Given the description of an element on the screen output the (x, y) to click on. 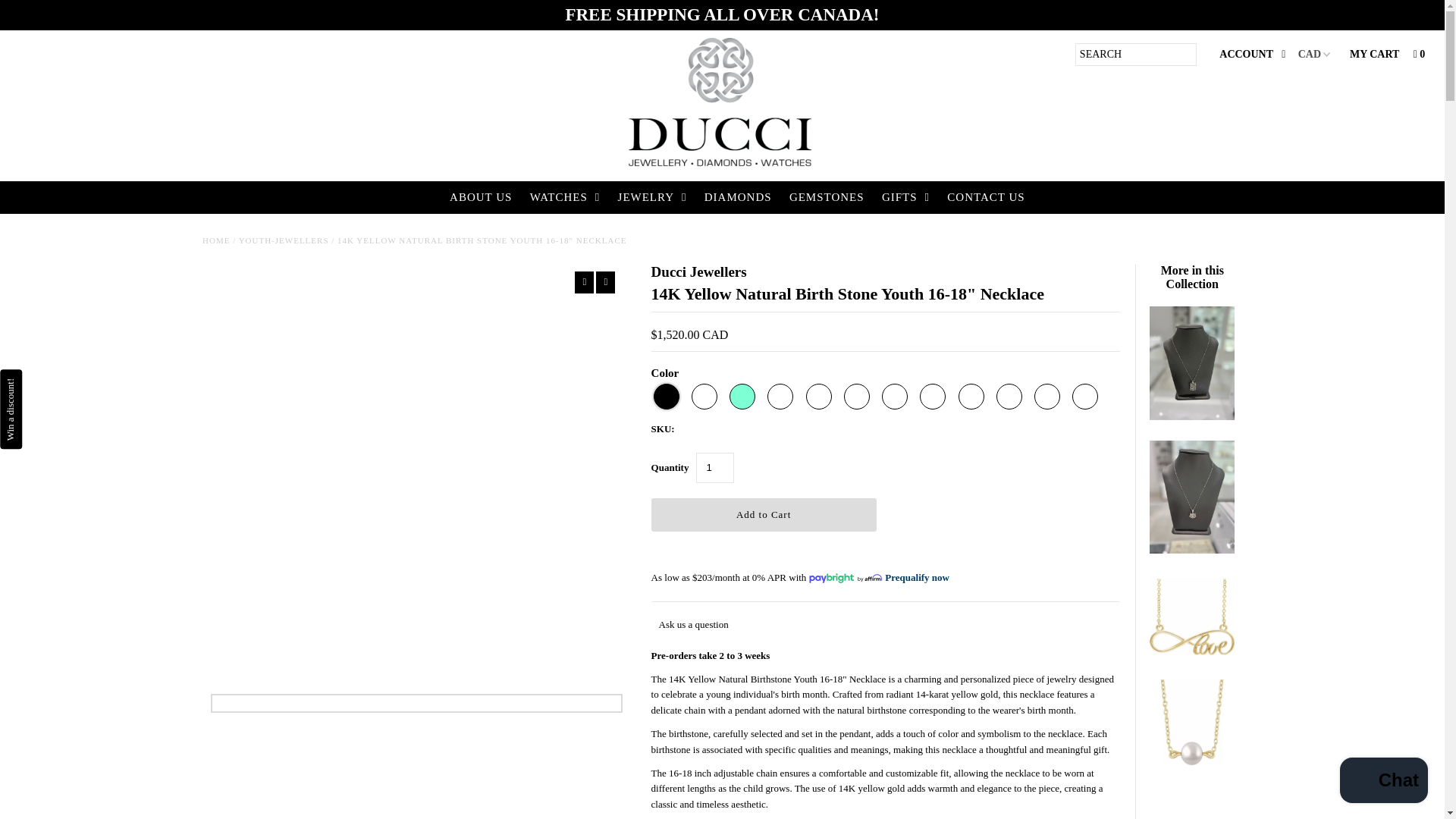
Youth-Jewellers (283, 239)
10KT White Gold Rectangular Miligrain Pendant with Diamonds (1192, 416)
Add to Cart (763, 514)
14K Yellow 27.5x8.4 mm Infinity-Inspired Love 17" Necklace (1192, 655)
Home (216, 239)
14K Yellow Cultured White Freshwater Pearl 16-18" Necklace (1192, 761)
1 (714, 467)
